Given the description of an element on the screen output the (x, y) to click on. 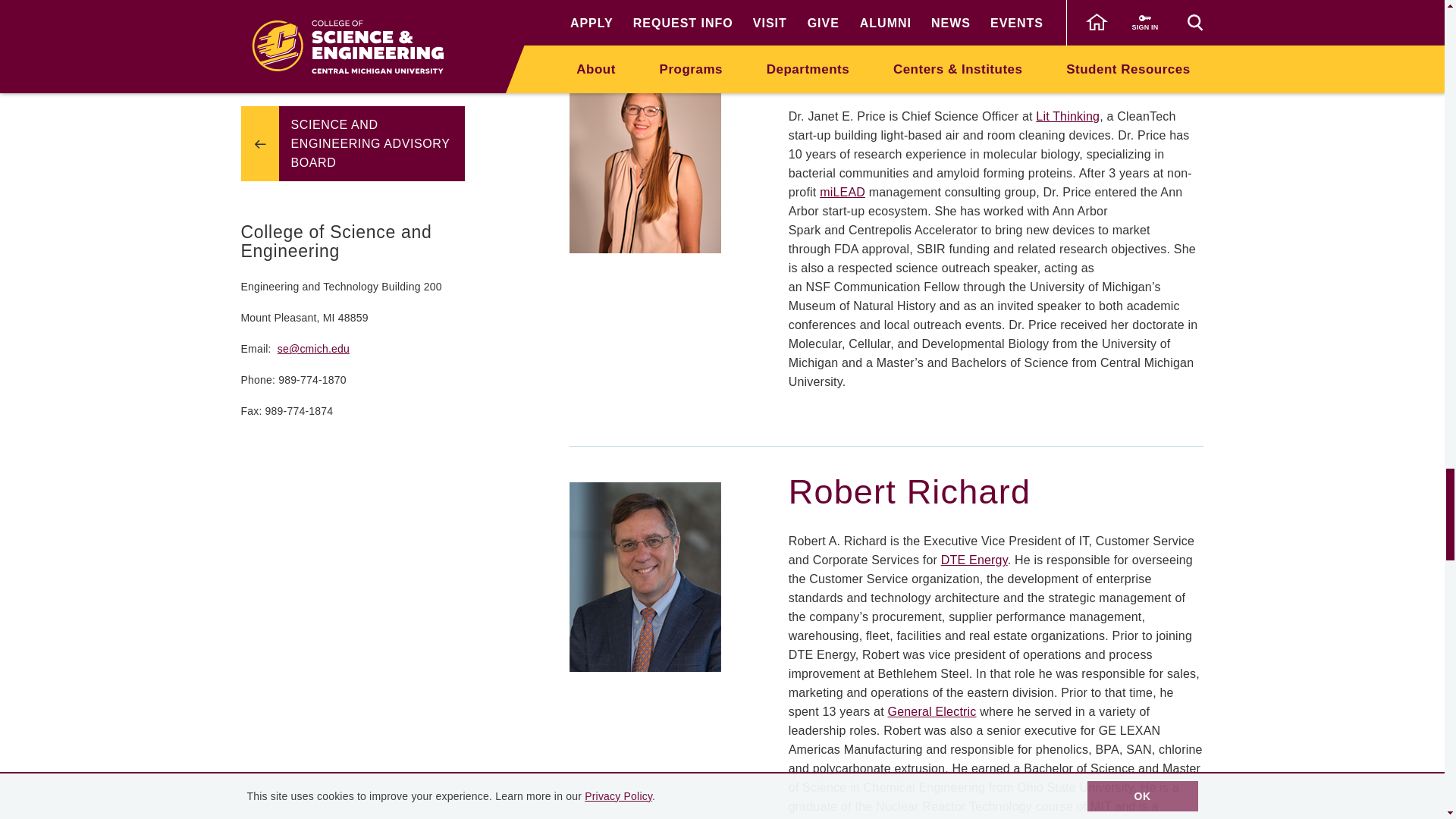
General Electric (930, 711)
miLead (841, 192)
Lit Thinking (1067, 115)
DTE Energy (973, 559)
